Given the description of an element on the screen output the (x, y) to click on. 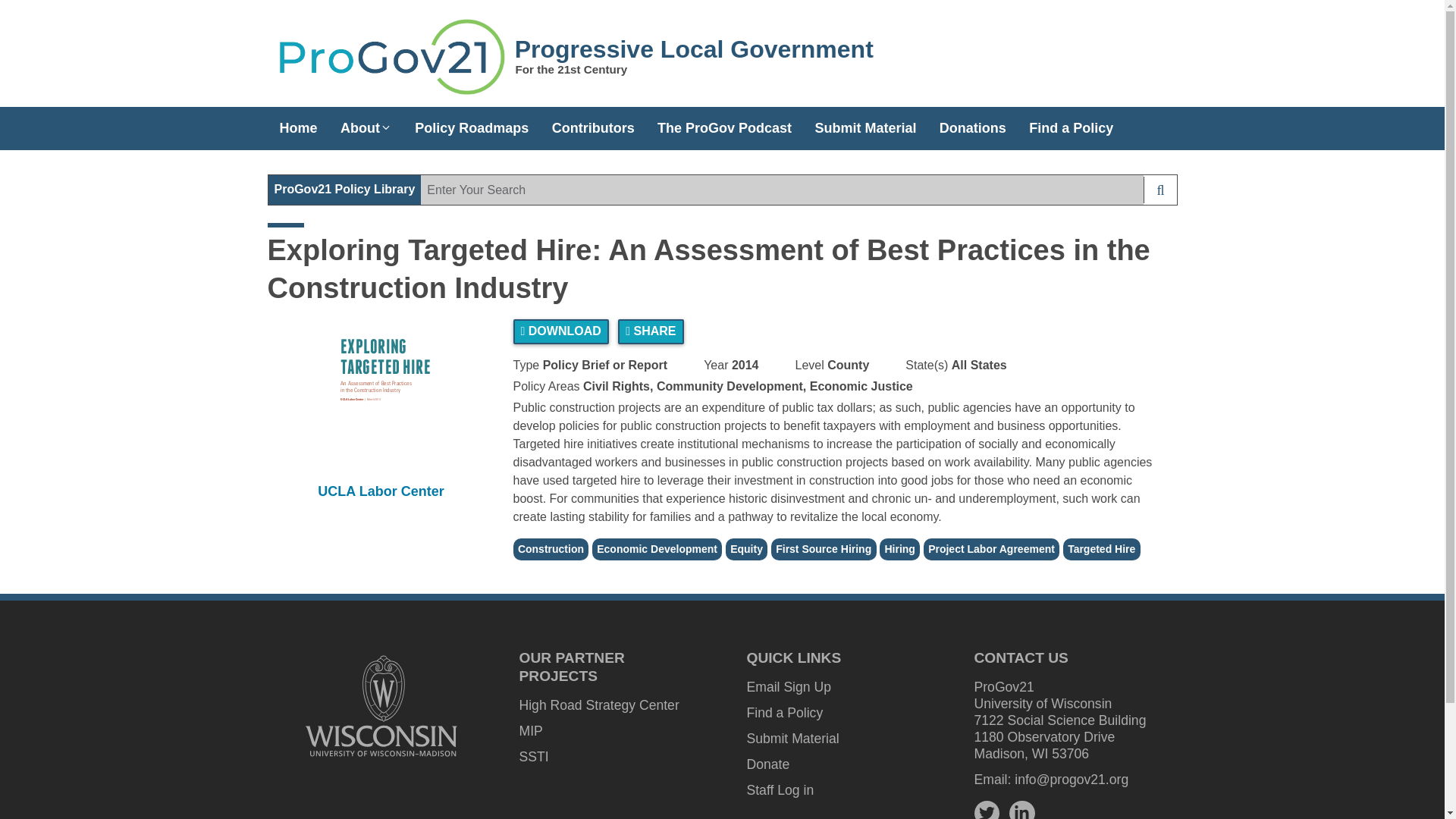
Contributors (592, 123)
SSTI (533, 756)
twitter (986, 809)
linkedin (1022, 809)
Progressive Local Government (694, 49)
twitter (986, 812)
Find a Policy (783, 712)
Submit Search (1159, 189)
Submit Material (791, 738)
